Given the description of an element on the screen output the (x, y) to click on. 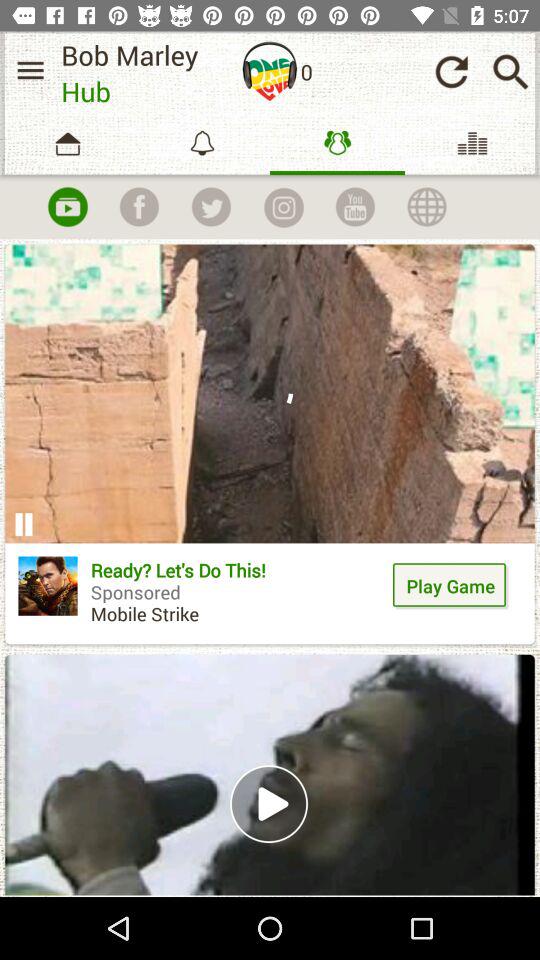
take a picture (283, 207)
